Given the description of an element on the screen output the (x, y) to click on. 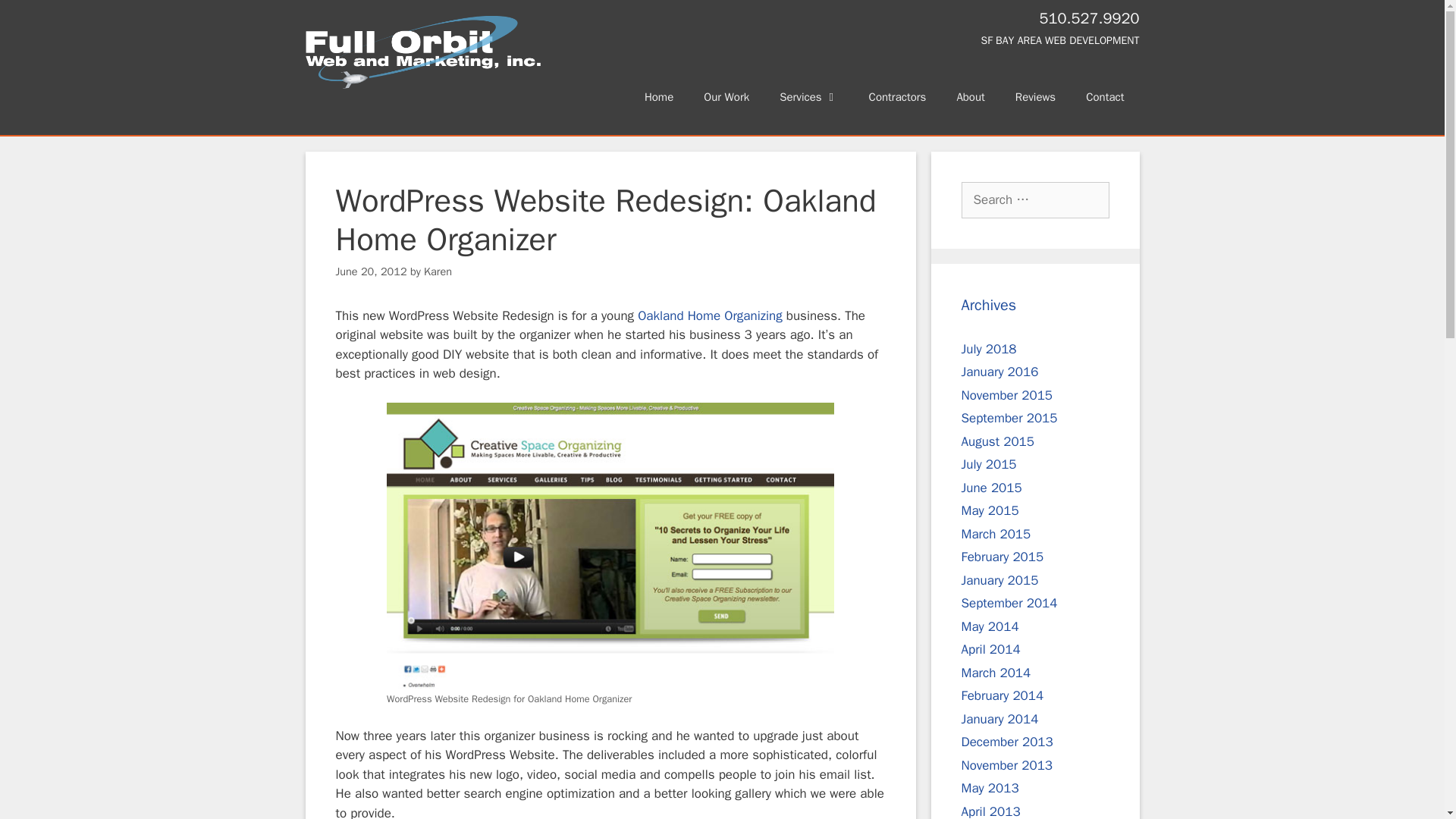
View all posts by Karen (437, 271)
May 2015 (989, 510)
January 2016 (999, 371)
Home (658, 96)
Oakland Home Organizer Steve Adams (710, 315)
Oakland Home Organizing (710, 315)
March 2015 (995, 534)
November 2015 (1006, 395)
Reviews (1035, 96)
